Given the description of an element on the screen output the (x, y) to click on. 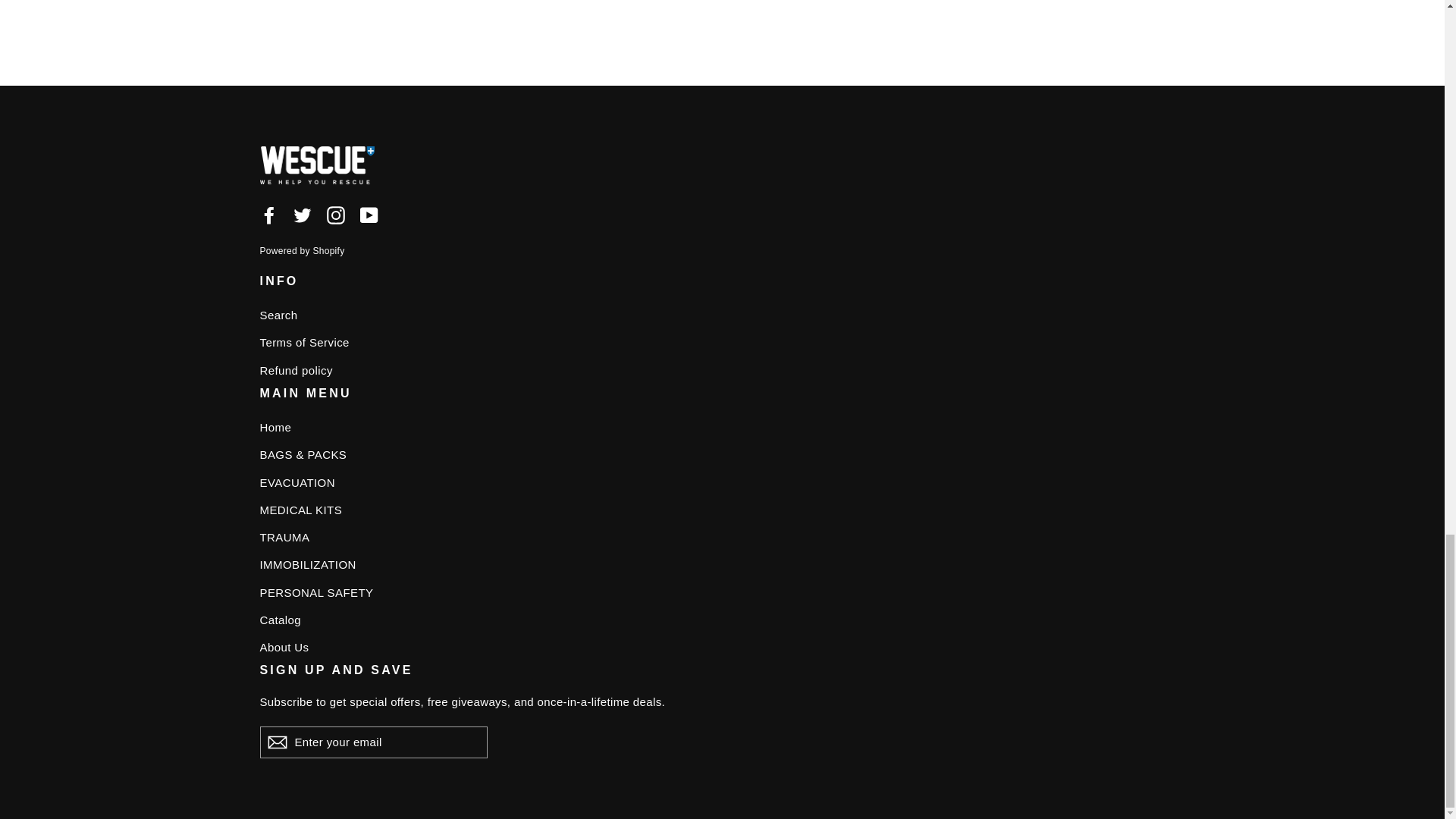
SRP TQ-TRAINER (342, 4)
Wescue Global on YouTube (368, 214)
Wescue Global on Twitter (302, 214)
